Given the description of an element on the screen output the (x, y) to click on. 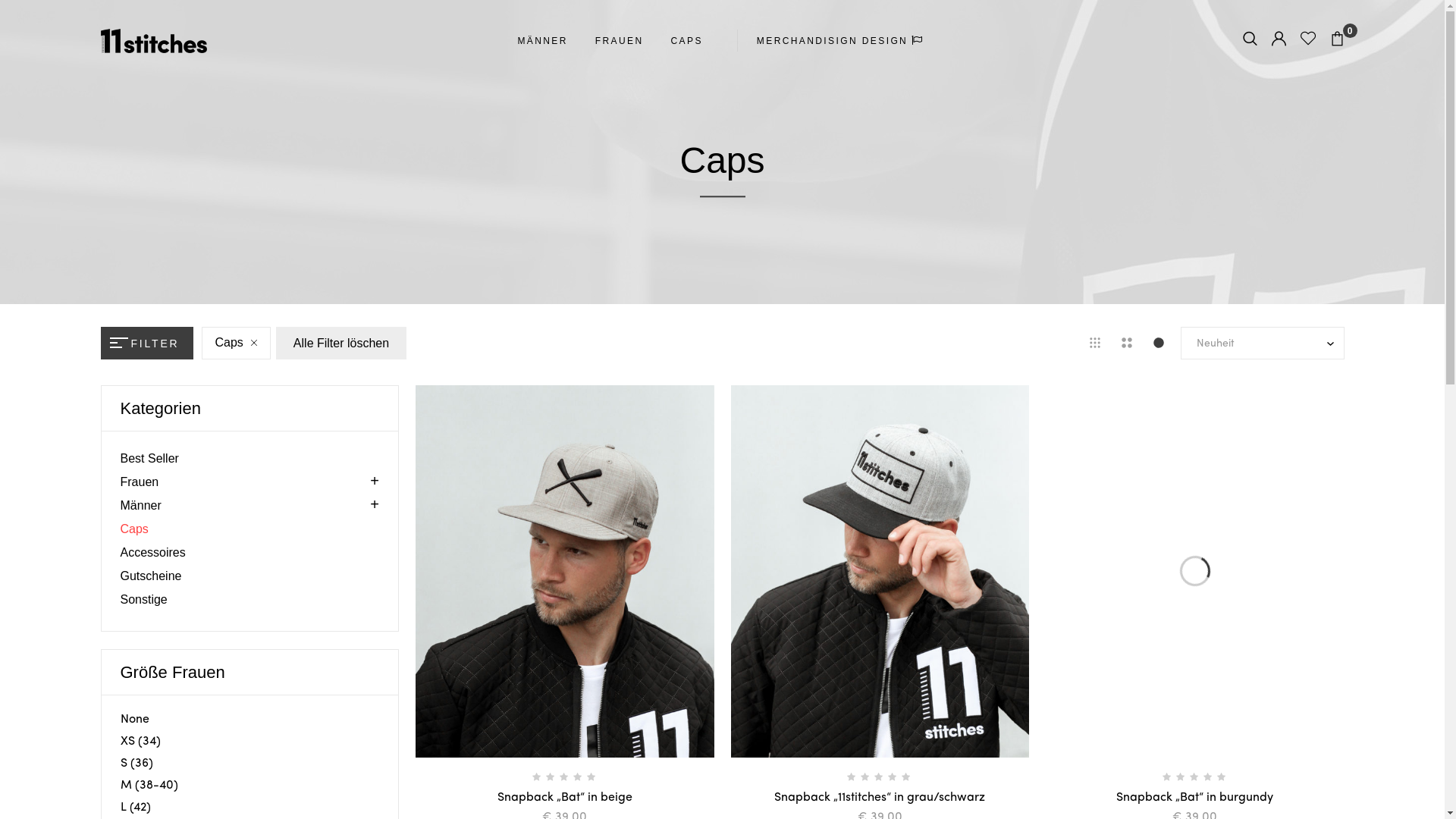
Rated 0 out of 5 Element type: hover (1194, 776)
Rated 0 out of 5 Element type: hover (879, 776)
FRAUEN Element type: text (619, 40)
FILTER Element type: text (146, 342)
MERCHANDISIGN DESIGN Element type: text (841, 40)
Rated 0 out of 5 Element type: hover (564, 776)
CAPS Element type: text (686, 40)
